Given the description of an element on the screen output the (x, y) to click on. 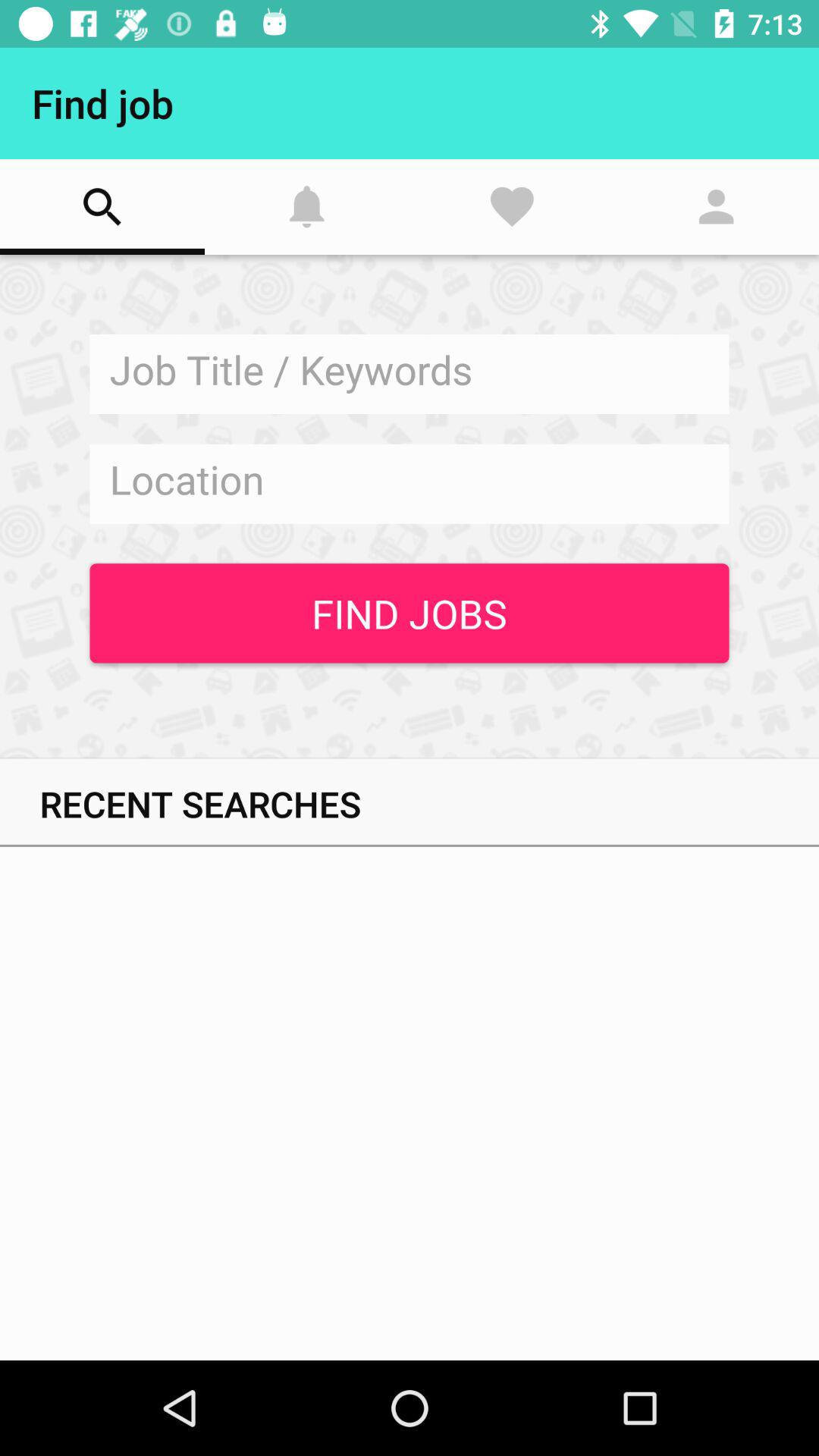
ender the text box (409, 483)
